Given the description of an element on the screen output the (x, y) to click on. 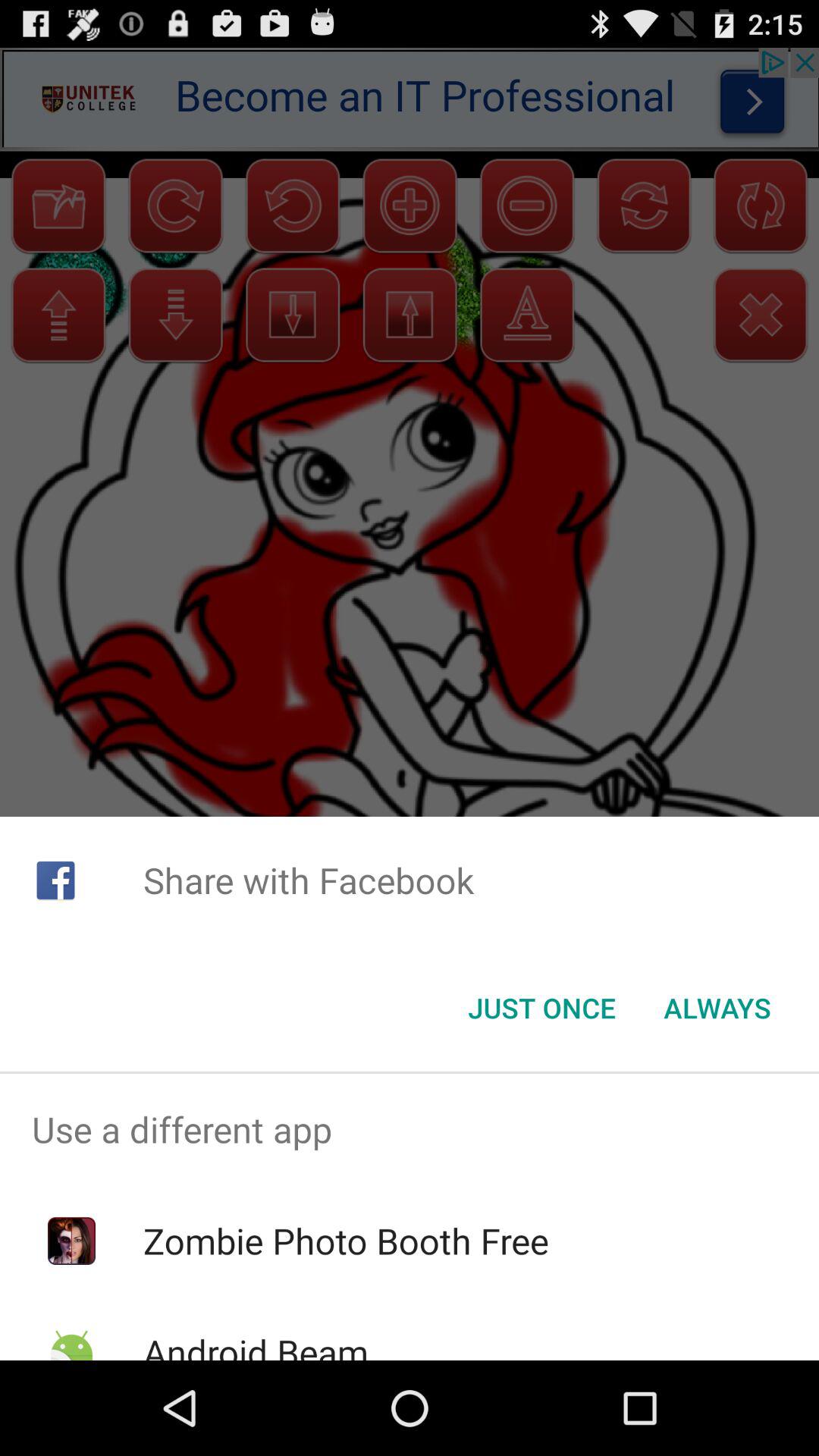
turn on item below use a different app (345, 1240)
